Given the description of an element on the screen output the (x, y) to click on. 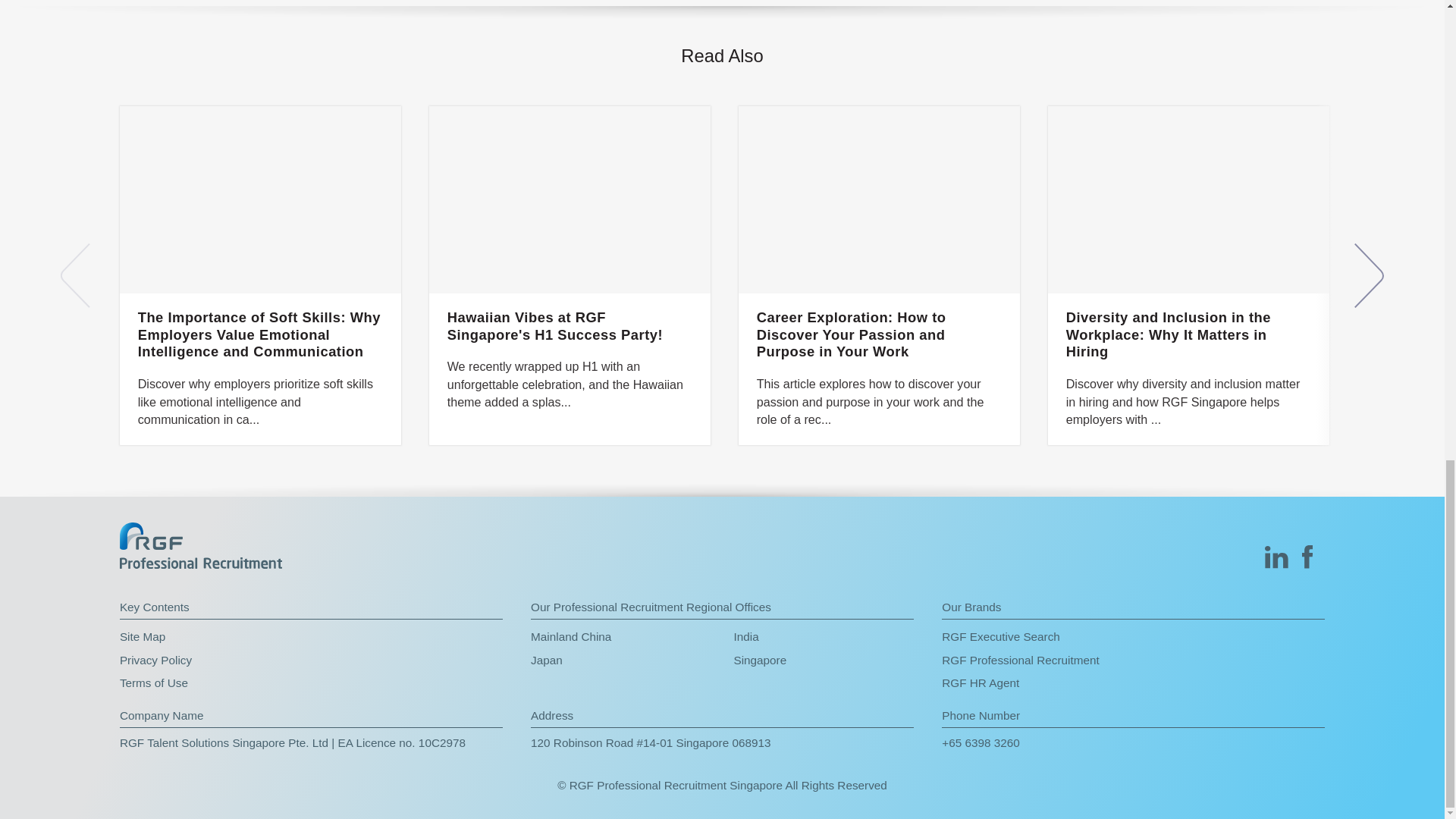
RGF Professional Recruitment (1133, 659)
RGF HR Agent (1133, 682)
RGF Executive Search (1133, 636)
